Given the description of an element on the screen output the (x, y) to click on. 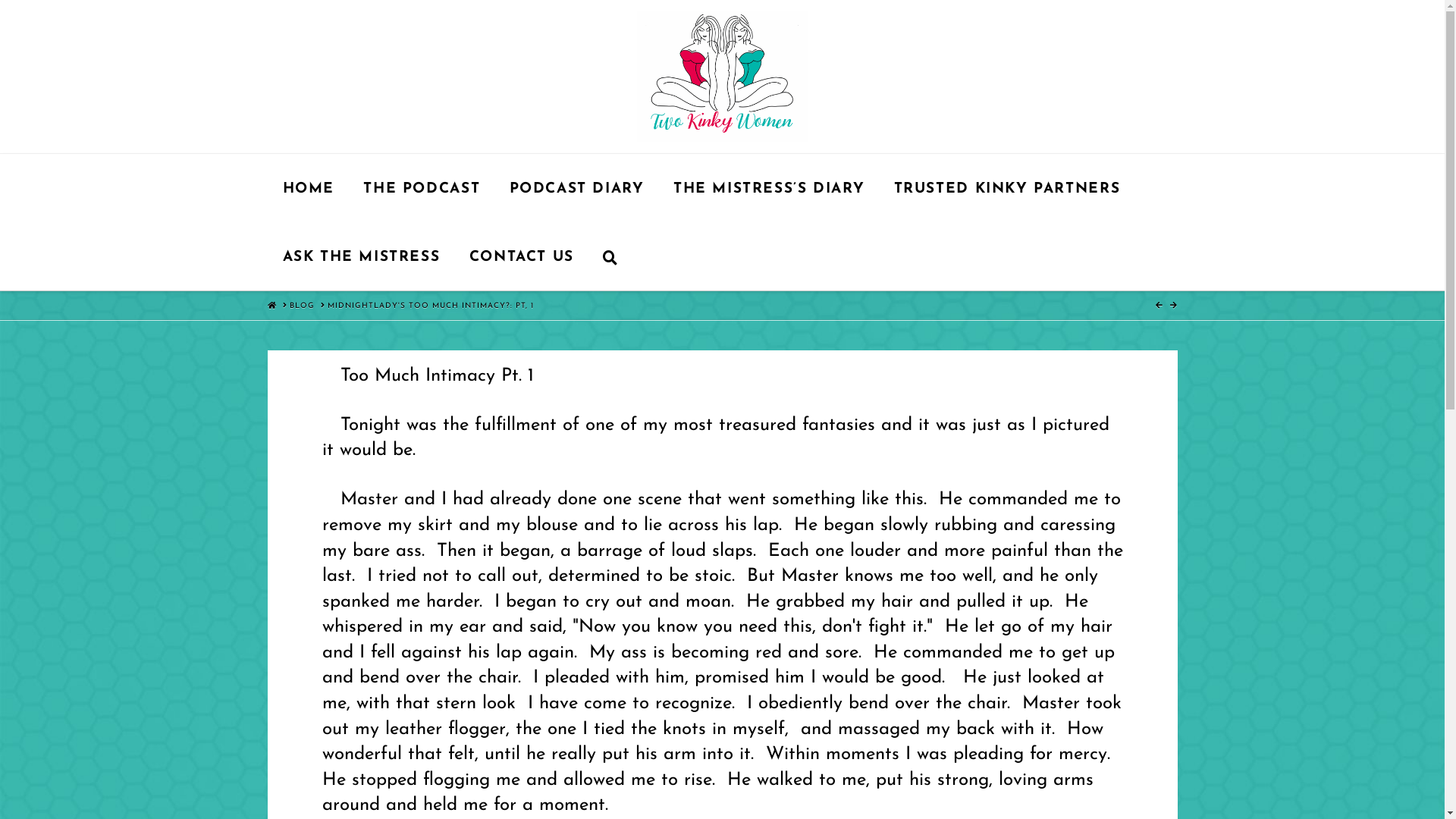
THE PODCAST Element type: text (420, 187)
HOME Element type: text (307, 187)
TRUSTED KINKY PARTNERS Element type: text (1006, 187)
PODCAST DIARY Element type: text (576, 187)
ASK THE MISTRESS Element type: text (359, 256)
CONTACT US Element type: text (521, 256)
MIDNIGHTLADY'S TOO MUCH INTIMACY?: PT, 1 Element type: text (430, 306)
BLOG Element type: text (301, 306)
HOME Element type: text (271, 305)
